Given the description of an element on the screen output the (x, y) to click on. 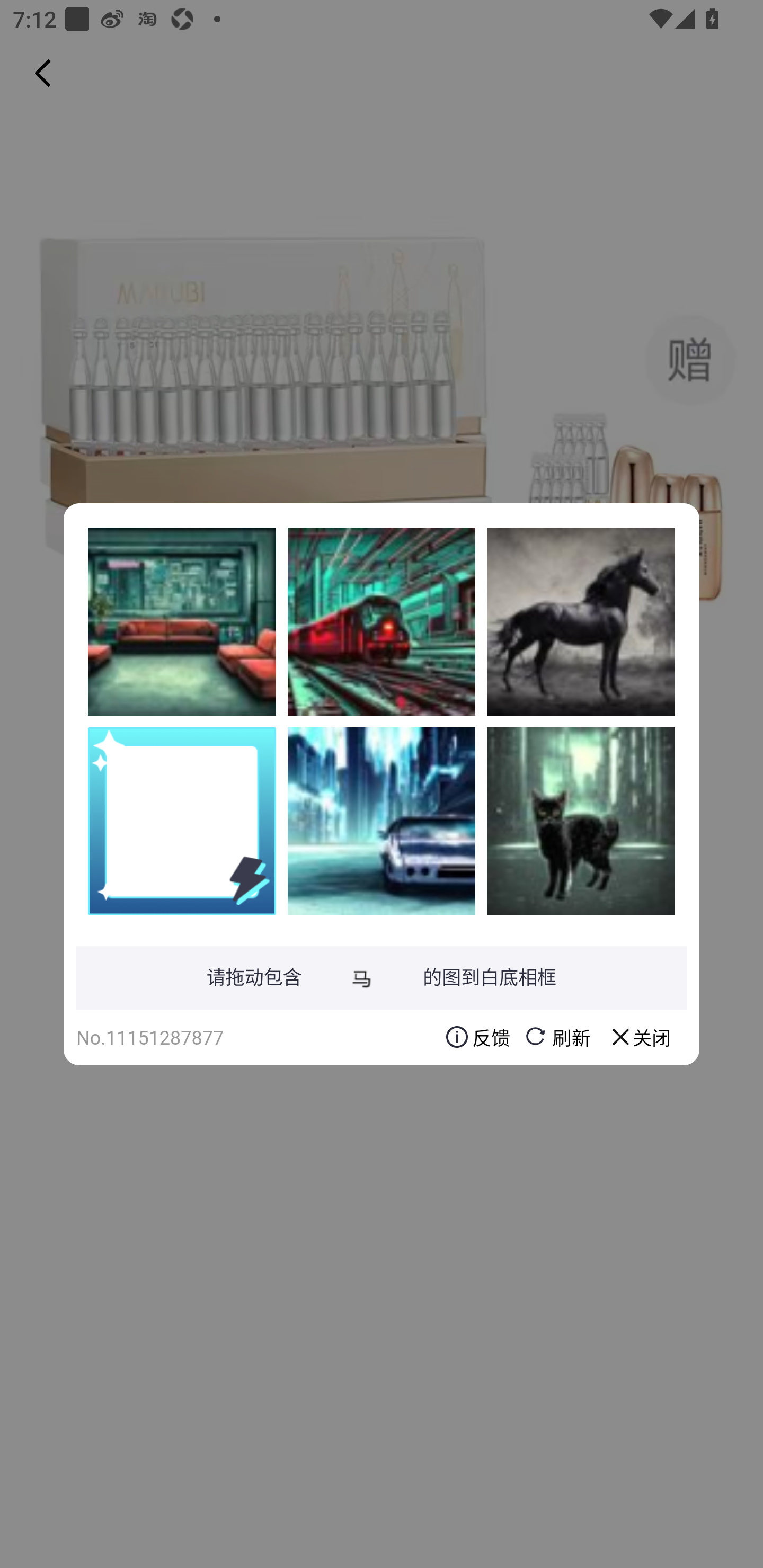
Jwk99 (381, 621)
